Given the description of an element on the screen output the (x, y) to click on. 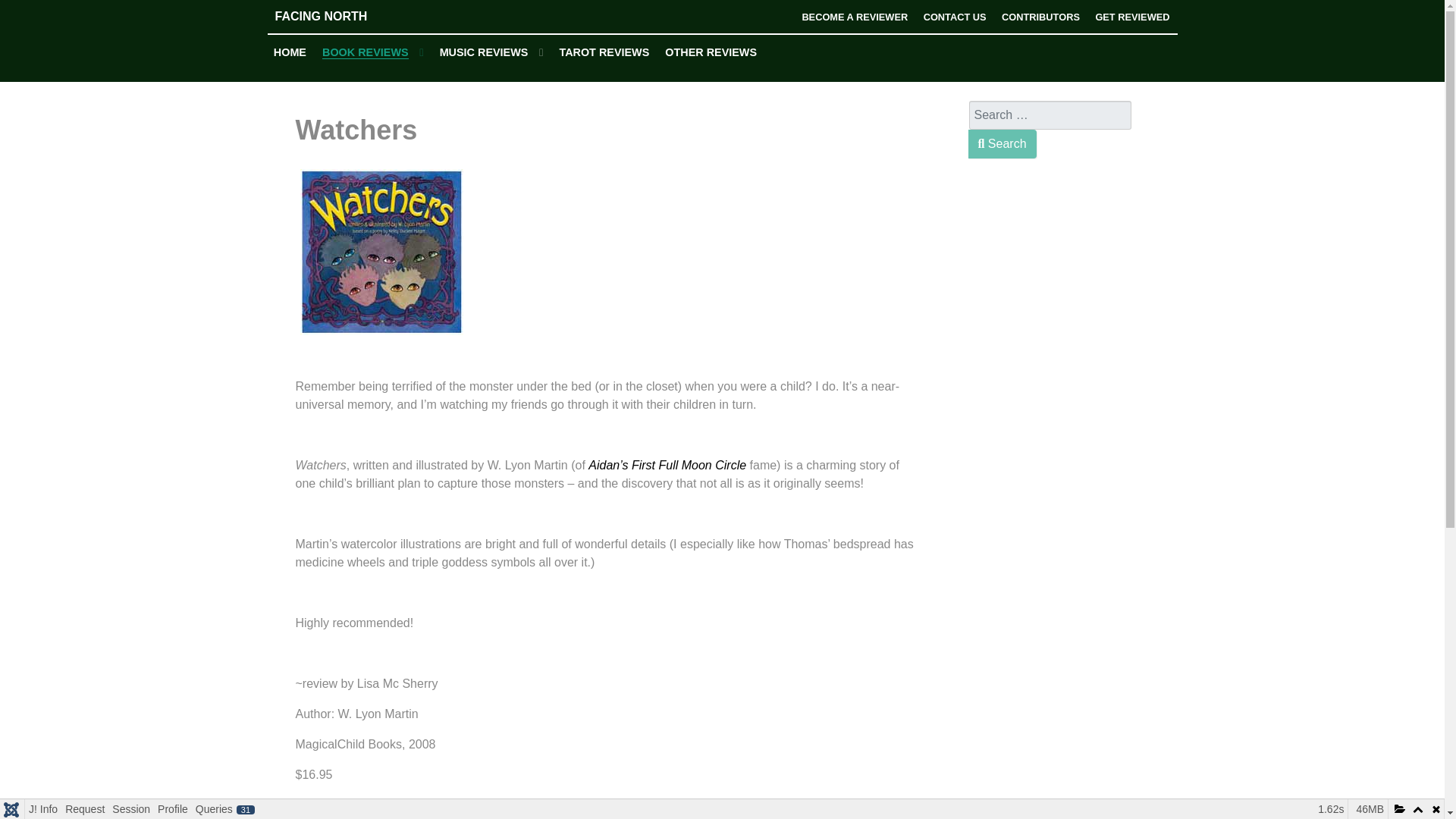
Book Reviews (373, 52)
Become a Reviewer (854, 16)
BECOME A REVIEWER (854, 16)
Home (289, 52)
FACING NORTH (380, 16)
Contact Us (955, 16)
GET REVIEWED (1131, 16)
Contributors (1040, 16)
CONTRIBUTORS (1040, 16)
Facing North (380, 16)
CONTACT US (955, 16)
BOOK REVIEWS (373, 52)
HOME (289, 52)
Get Reviewed (1131, 16)
